Given the description of an element on the screen output the (x, y) to click on. 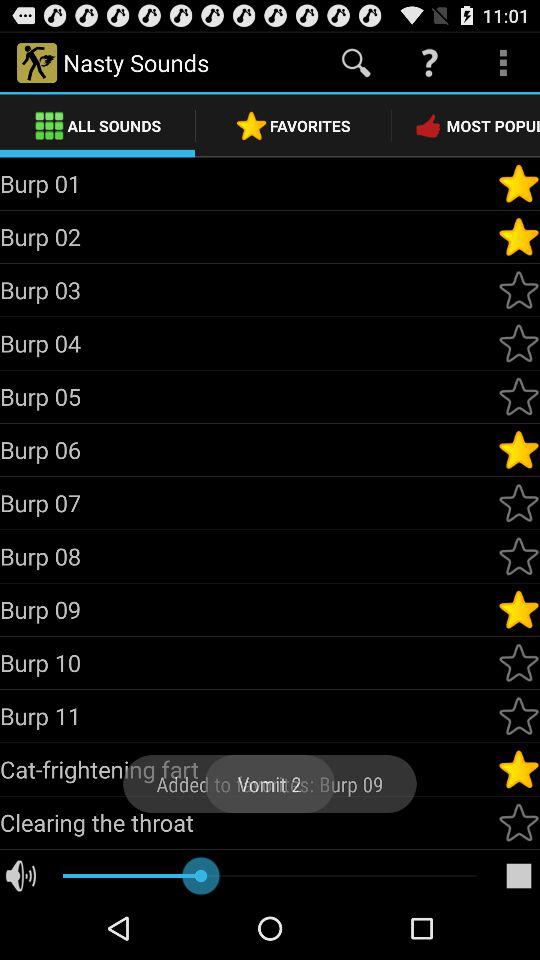
good (519, 183)
